Given the description of an element on the screen output the (x, y) to click on. 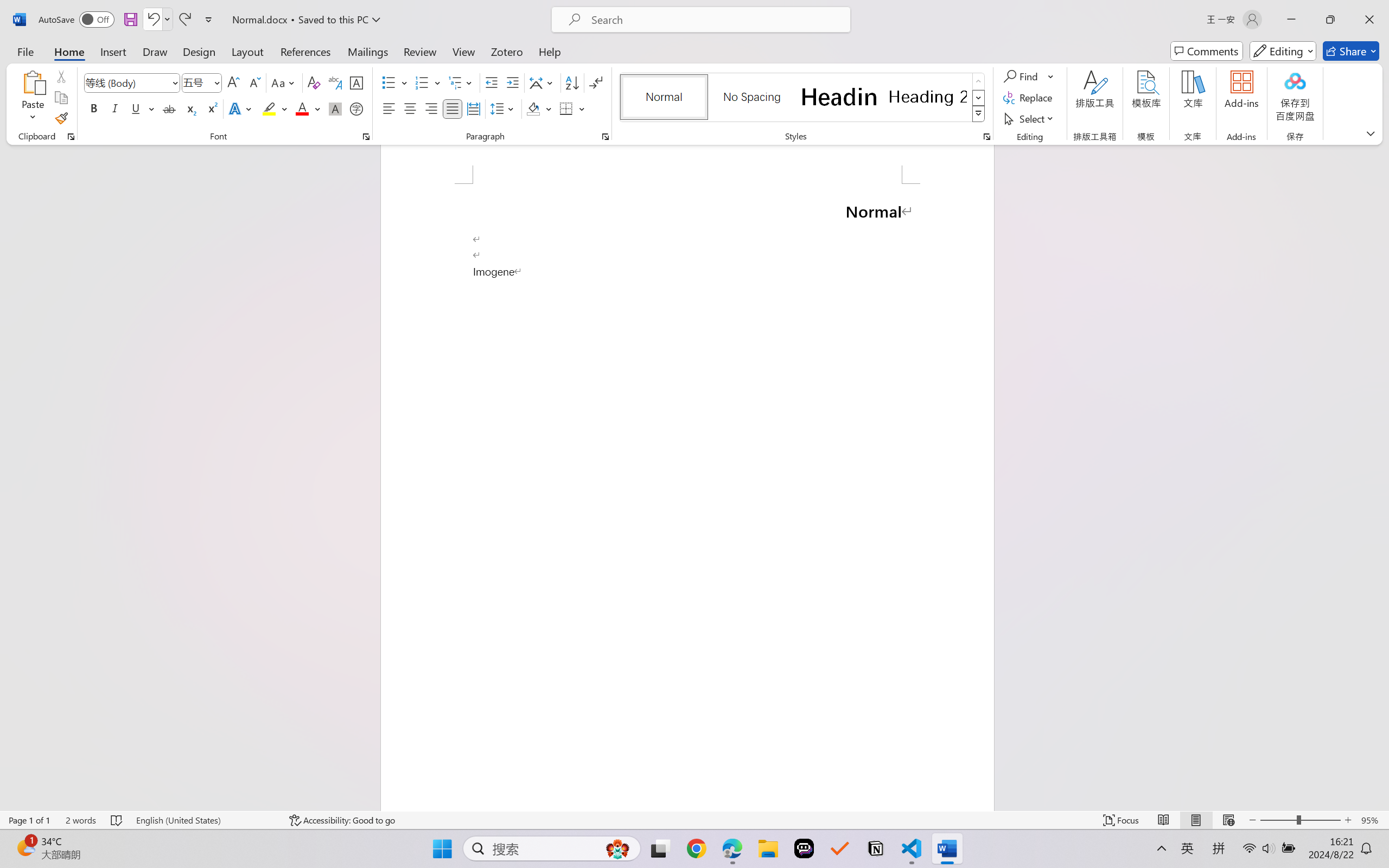
Text Highlight Color Yellow (269, 108)
Show/Hide Editing Marks (595, 82)
Undo Typing (152, 19)
